Given the description of an element on the screen output the (x, y) to click on. 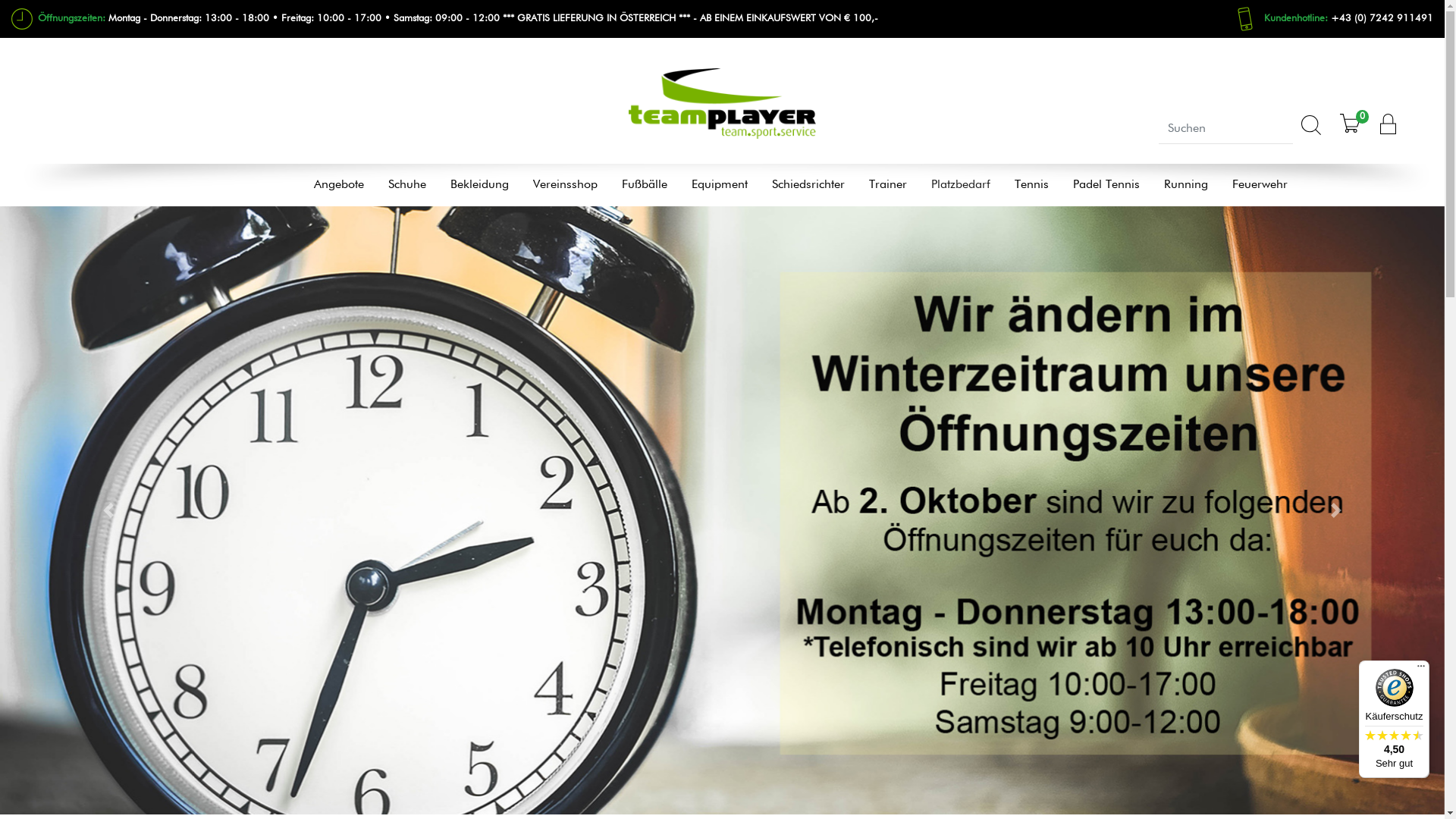
Schiedsrichter Element type: text (807, 184)
Angebote Element type: text (338, 184)
Vereinsshop Element type: text (564, 184)
Schuhe Element type: text (407, 184)
Feuerwehr Element type: text (1259, 184)
Trainer Element type: text (887, 184)
Next Element type: text (1335, 510)
Bekleidung Element type: text (479, 184)
Suchen Element type: text (1311, 129)
Tennis Element type: text (1031, 184)
Equipment Element type: text (719, 184)
Warenkorb
0
Artikel im Warenkorb Element type: text (1349, 132)
Running Element type: text (1185, 184)
Previous Element type: text (108, 510)
Platzbedarf
(current) Element type: text (960, 184)
Padel Tennis Element type: text (1105, 184)
